Given the description of an element on the screen output the (x, y) to click on. 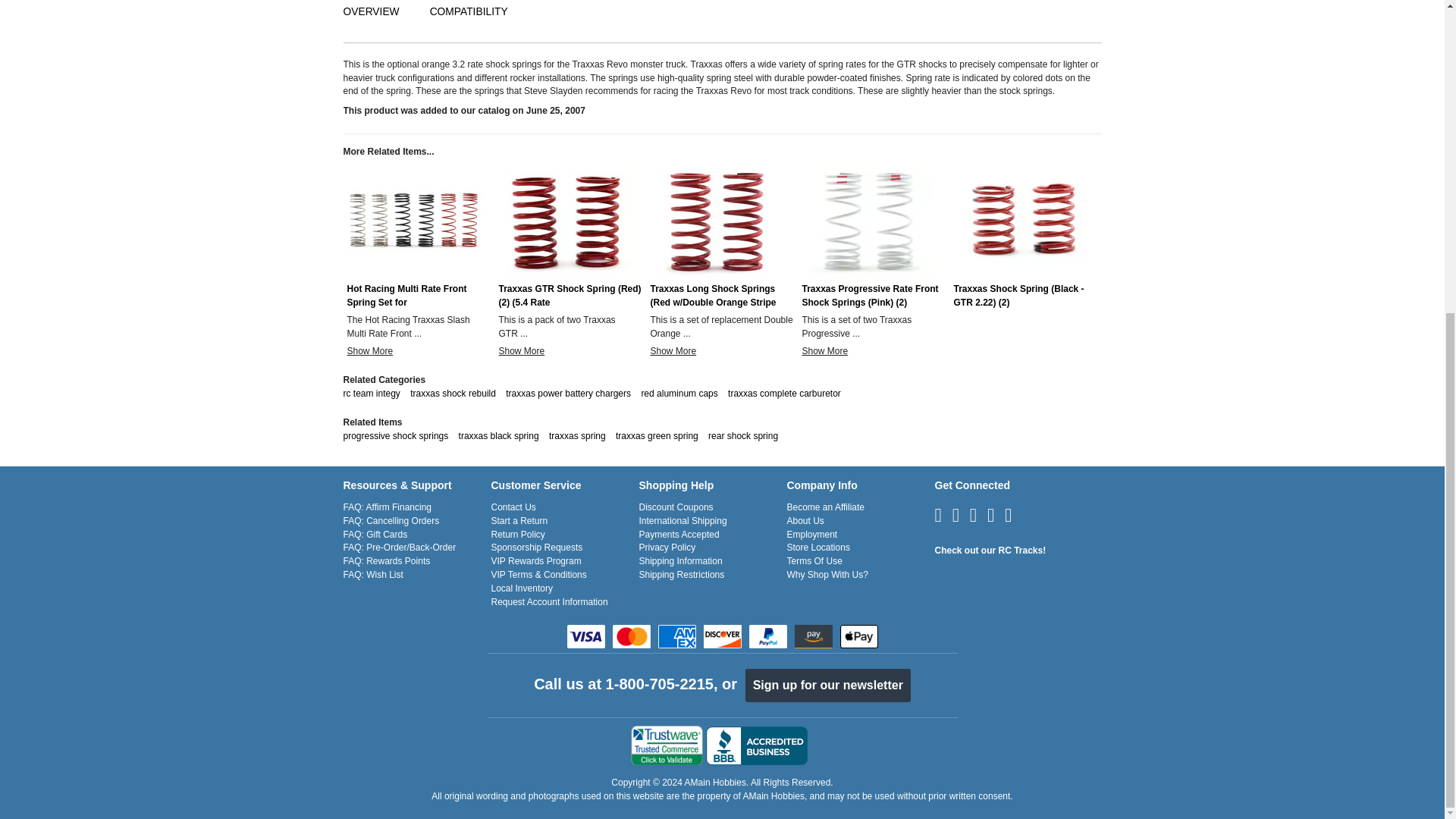
Tracks (989, 550)
